Given the description of an element on the screen output the (x, y) to click on. 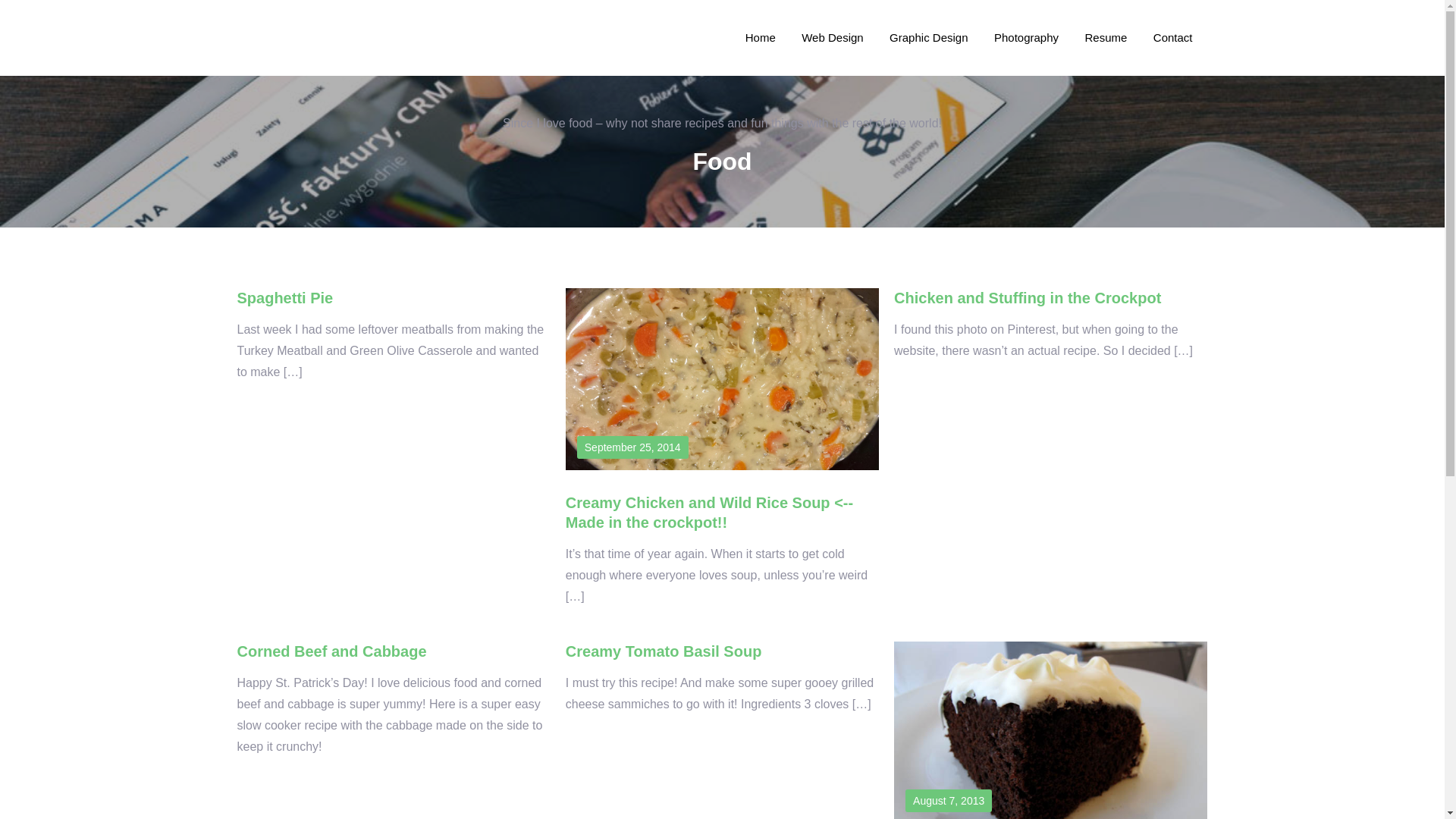
Home (760, 37)
Resume (1105, 37)
Corned Beef and Cabbage (330, 651)
Photography (1026, 37)
Lee Ann Meier (293, 47)
Spaghetti Pie (284, 297)
Web Design (832, 37)
Chicken and Stuffing in the Crockpot (1026, 297)
September 25, 2014 (632, 446)
Creamy Tomato Basil Soup (663, 651)
